Given the description of an element on the screen output the (x, y) to click on. 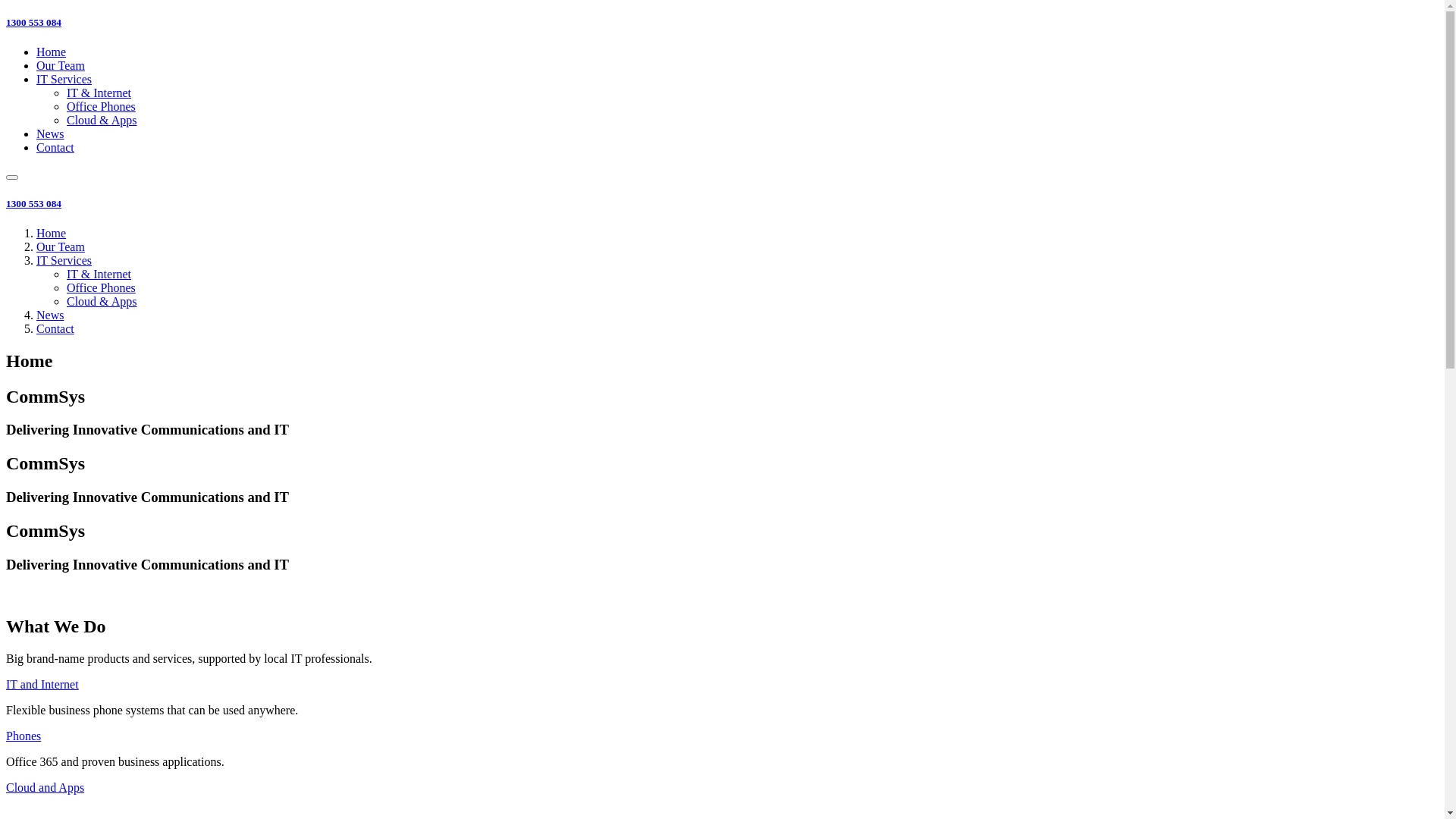
Home Element type: text (50, 232)
Office Phones Element type: text (100, 106)
Cloud & Apps Element type: text (101, 119)
News Element type: text (49, 133)
Phones Element type: text (23, 735)
IT and Internet Element type: text (42, 683)
IT Services Element type: text (63, 78)
News Element type: text (49, 314)
Contact Element type: text (55, 328)
Cloud and Apps Element type: text (45, 787)
Cloud & Apps Element type: text (101, 300)
Contact Element type: text (55, 147)
Our Team Element type: text (60, 246)
1300 553 084 Element type: text (33, 22)
IT & Internet Element type: text (98, 273)
Our Team Element type: text (60, 65)
Home Element type: text (50, 51)
IT Services Element type: text (63, 260)
Office Phones Element type: text (100, 287)
1300 553 084 Element type: text (33, 203)
IT & Internet Element type: text (98, 92)
